Given the description of an element on the screen output the (x, y) to click on. 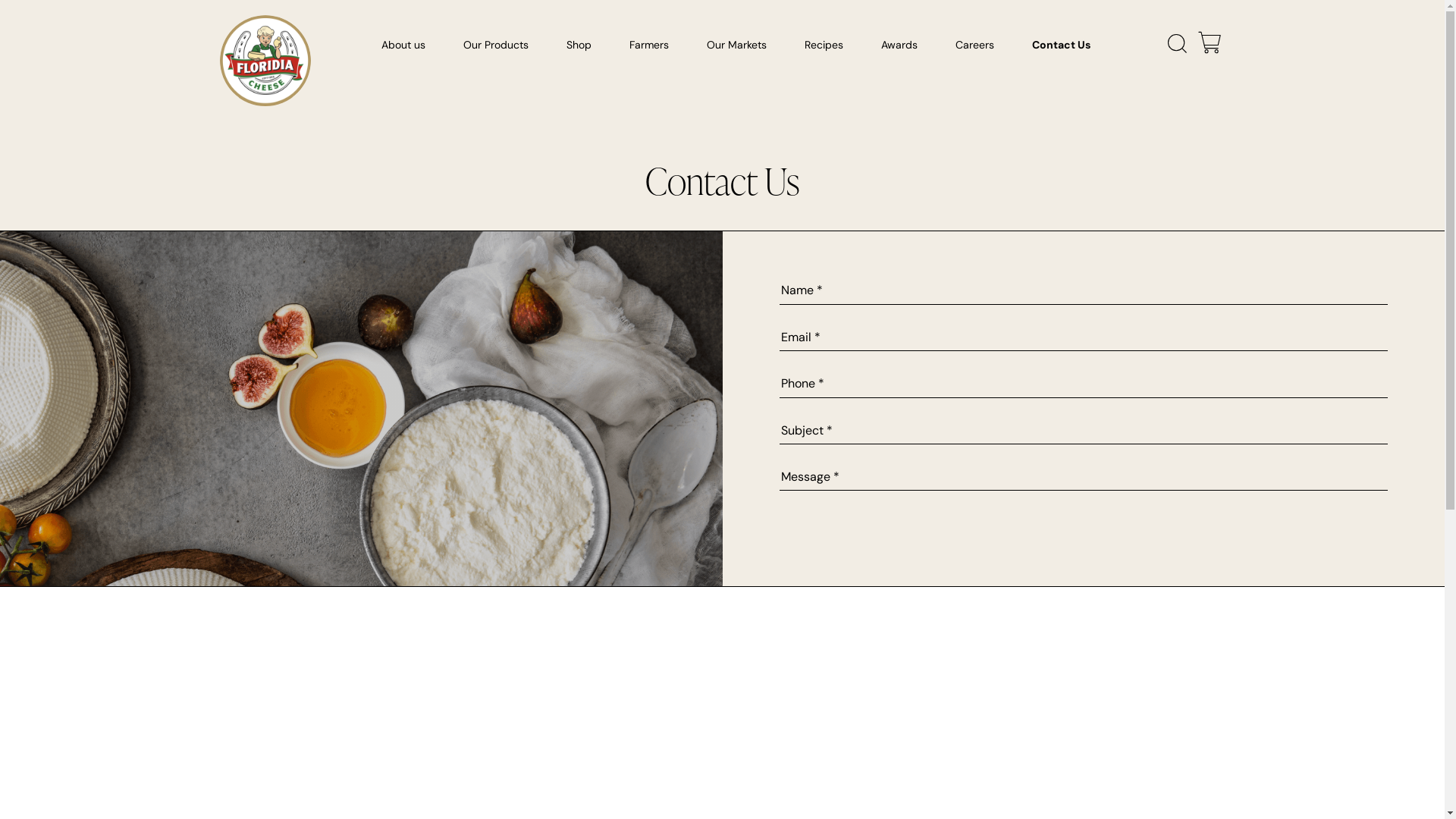
Search Element type: text (25, 9)
Our Products Element type: text (495, 48)
Careers Element type: text (974, 48)
Awards Element type: text (899, 48)
Our Markets Element type: text (736, 48)
Recipes Element type: text (823, 48)
Send Element type: text (361, 15)
Farmers Element type: text (648, 48)
About us Element type: text (403, 48)
Shop Element type: text (578, 48)
Contact Us Element type: text (1061, 48)
